Given the description of an element on the screen output the (x, y) to click on. 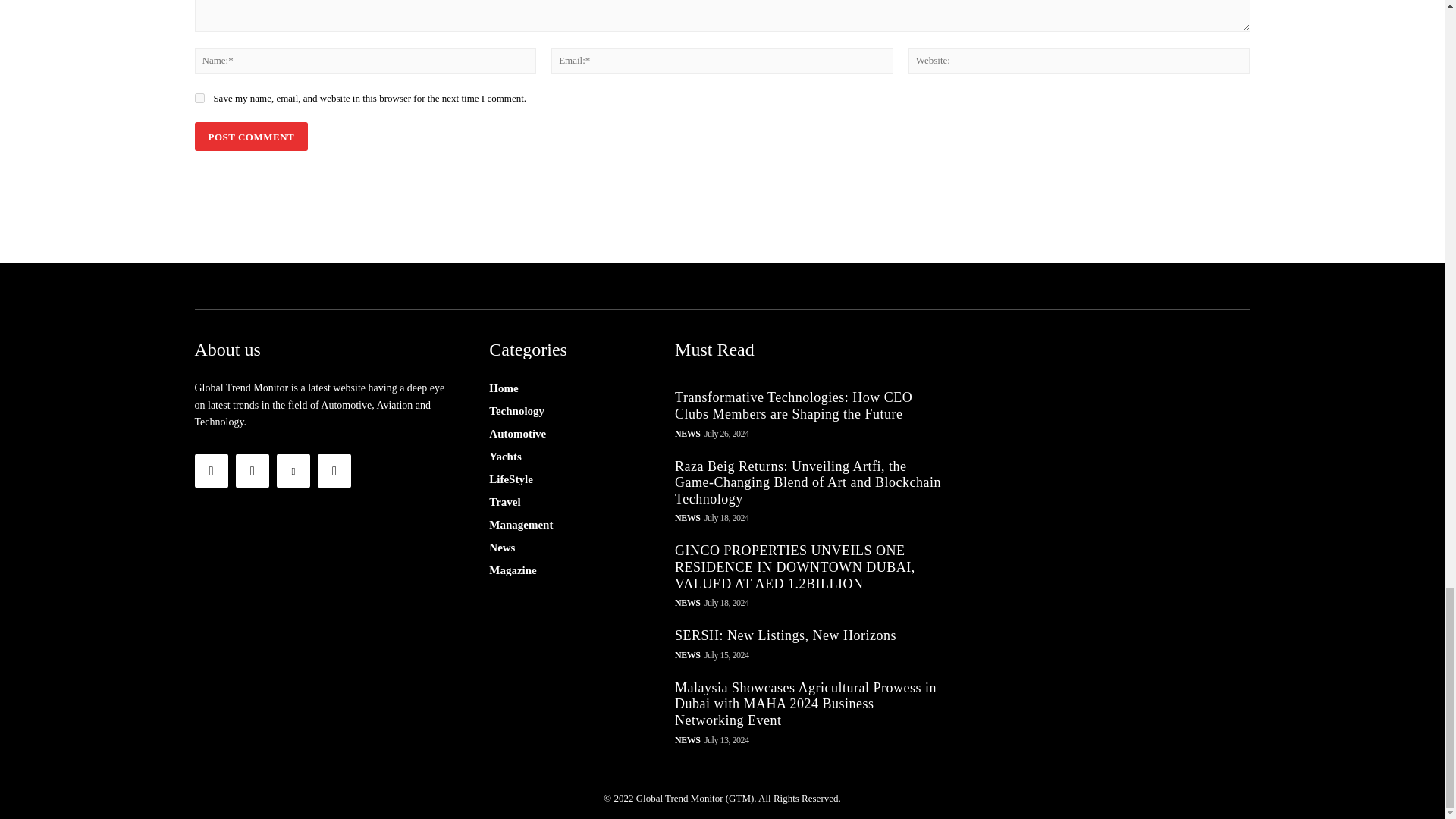
yes (198, 98)
Post Comment (250, 136)
